Given the description of an element on the screen output the (x, y) to click on. 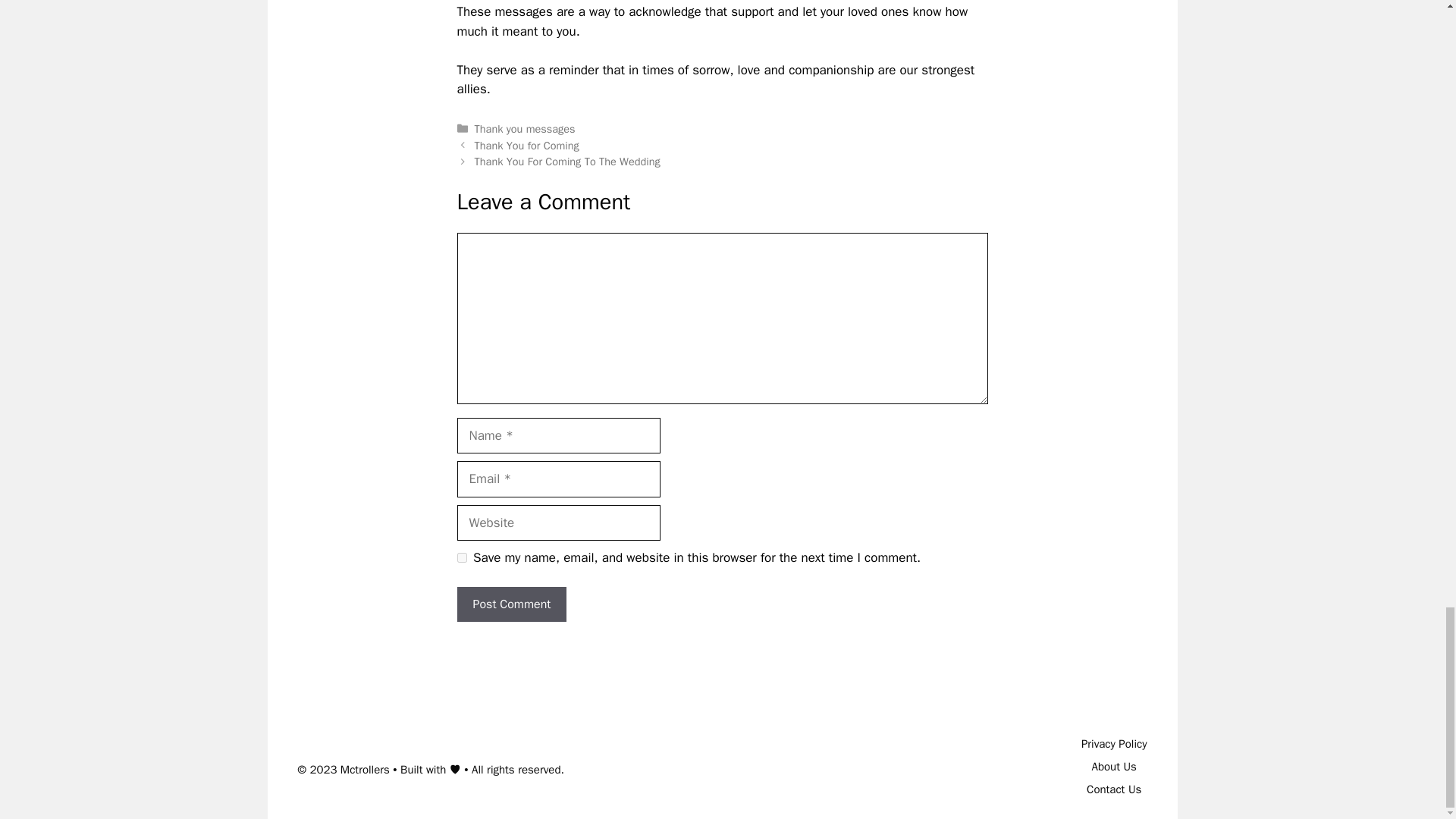
Contact Us (1113, 789)
Post Comment (511, 604)
Thank You For Coming To The Wedding (567, 161)
About Us (1114, 766)
Privacy Policy (1114, 744)
Thank you messages (524, 128)
yes (461, 557)
Post Comment (511, 604)
Thank You for Coming (526, 145)
